Given the description of an element on the screen output the (x, y) to click on. 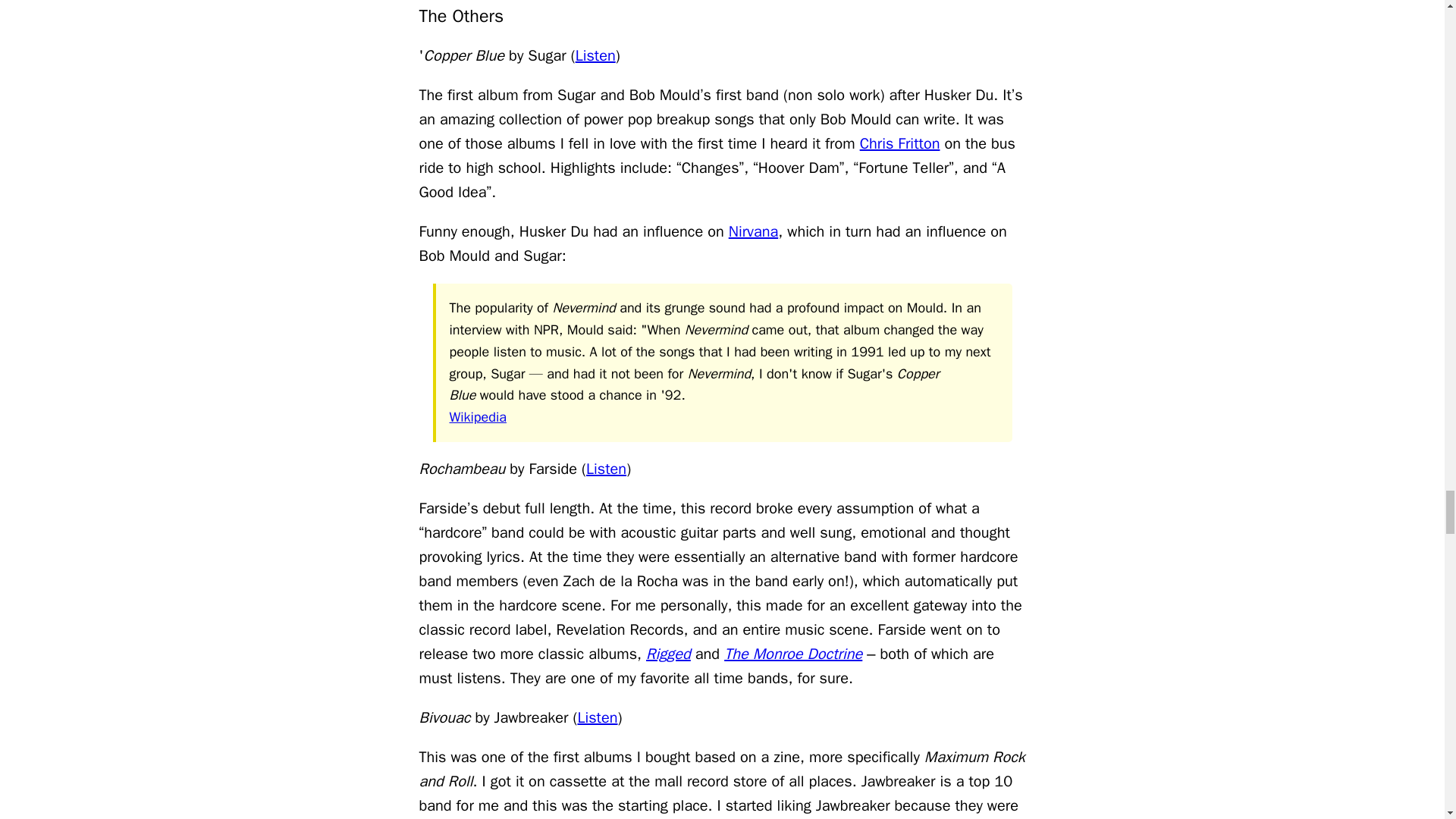
Wikipedia (476, 416)
Listen (606, 468)
Listen (595, 55)
Listen (596, 717)
